Given the description of an element on the screen output the (x, y) to click on. 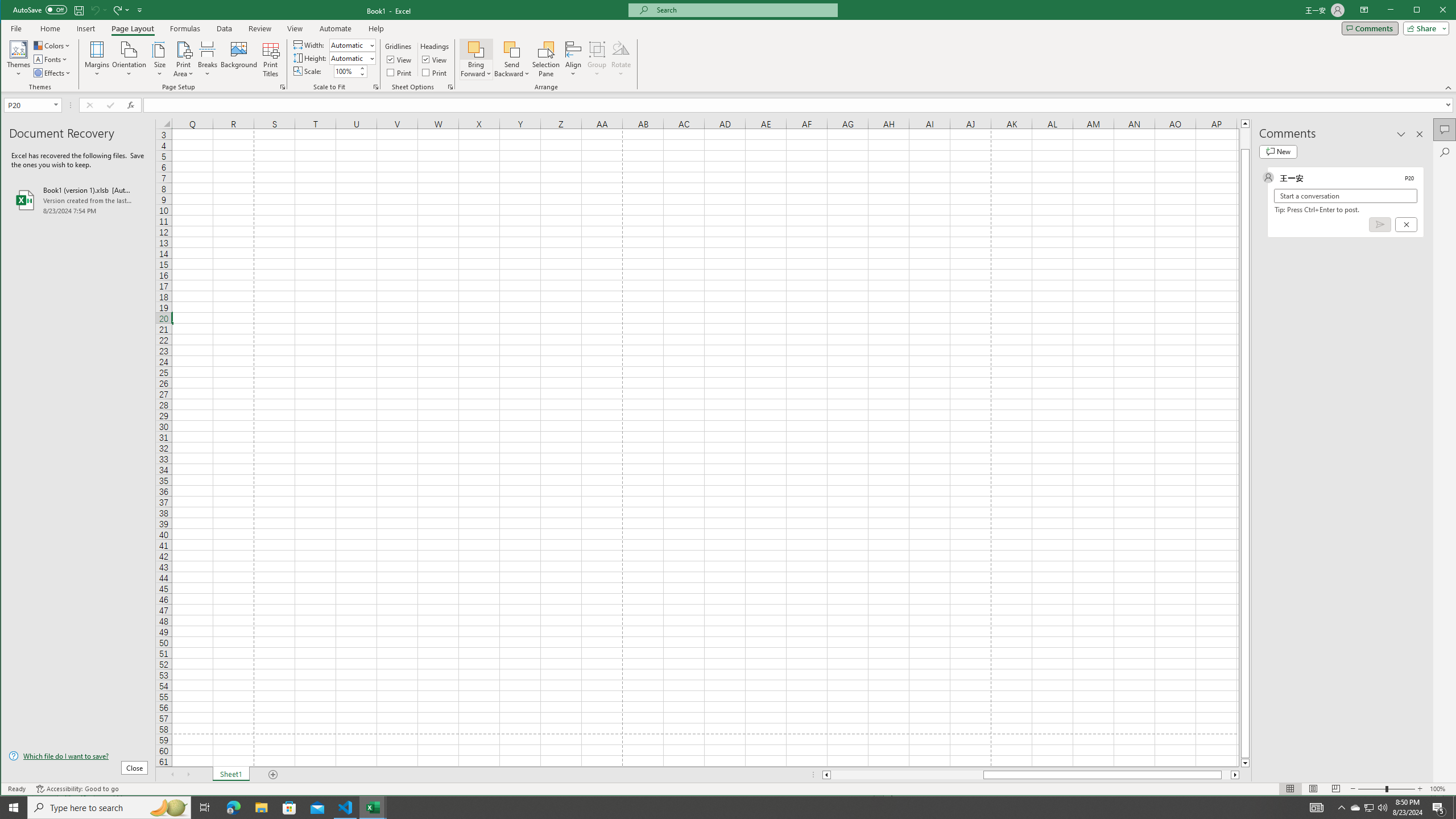
Send Backward (512, 59)
AutoSave (39, 9)
Notification Chevron (1341, 807)
Accessibility Checker Accessibility: Good to go (77, 788)
Page left (906, 774)
Running applications (717, 807)
Size (159, 59)
Width (352, 44)
Microsoft Edge (233, 807)
